Given the description of an element on the screen output the (x, y) to click on. 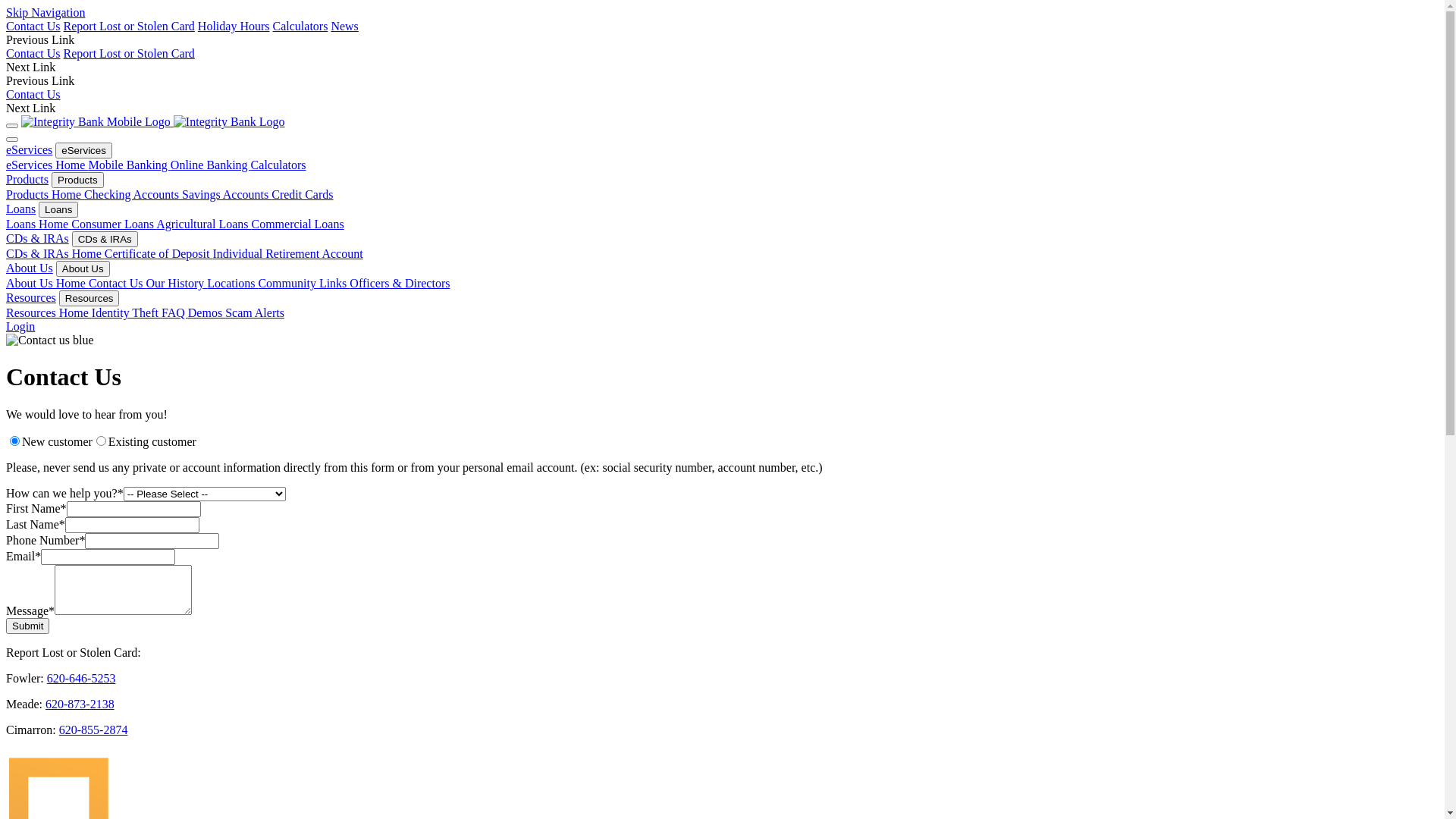
Checking Accounts Element type: text (133, 194)
Submit Element type: text (27, 625)
Products Element type: text (77, 180)
CDs & IRAs Home Element type: text (55, 253)
Report Lost or Stolen Card Element type: text (128, 53)
620-873-2138 Element type: text (79, 703)
About Us Element type: text (82, 268)
CDs & IRAs Element type: text (105, 239)
Identity Theft Element type: text (126, 312)
News Element type: text (343, 25)
Home Element type: hover (97, 121)
Contact Us Element type: text (33, 53)
FAQ Element type: text (174, 312)
About Us Element type: text (29, 267)
Resources Element type: text (31, 297)
Login Element type: text (20, 326)
Contact Us Element type: text (117, 282)
Calculators Element type: text (278, 164)
Our History Element type: text (176, 282)
eServices Element type: text (83, 150)
eServices Home Element type: text (46, 164)
Online Banking Element type: text (210, 164)
Previous Link Element type: text (40, 80)
Consumer Loans Element type: text (113, 223)
620-855-2874 Element type: text (93, 729)
Individual Retirement Account Element type: text (287, 253)
Products Element type: text (27, 178)
Contact Us Element type: text (33, 93)
Officers & Directors Element type: text (399, 282)
Locations Element type: text (232, 282)
Products Home Element type: text (45, 194)
eServices Element type: text (29, 149)
Scam Alerts Element type: text (254, 312)
Resources Element type: text (89, 298)
Loans Element type: text (58, 209)
Commercial Loans Element type: text (297, 223)
Holiday Hours Element type: text (233, 25)
Loans Element type: text (20, 208)
CDs & IRAs Element type: text (37, 238)
Previous Link Element type: text (40, 39)
Home Element type: hover (229, 121)
Certificate of Deposit Element type: text (158, 253)
Resources Home Element type: text (48, 312)
620-646-5253 Element type: text (81, 677)
About Us Home Element type: text (47, 282)
Savings Accounts Element type: text (226, 194)
Credit Cards Element type: text (301, 194)
Next Link Element type: text (30, 107)
Agricultural Loans Element type: text (203, 223)
Skip Navigation Element type: text (45, 12)
Calculators Element type: text (300, 25)
Demos Element type: text (206, 312)
Loans Home Element type: text (38, 223)
Report Lost or Stolen Card Element type: text (128, 25)
Contact Us Element type: text (33, 25)
Mobile Banking Element type: text (128, 164)
Community Links Element type: text (303, 282)
Next Link Element type: text (30, 66)
